Given the description of an element on the screen output the (x, y) to click on. 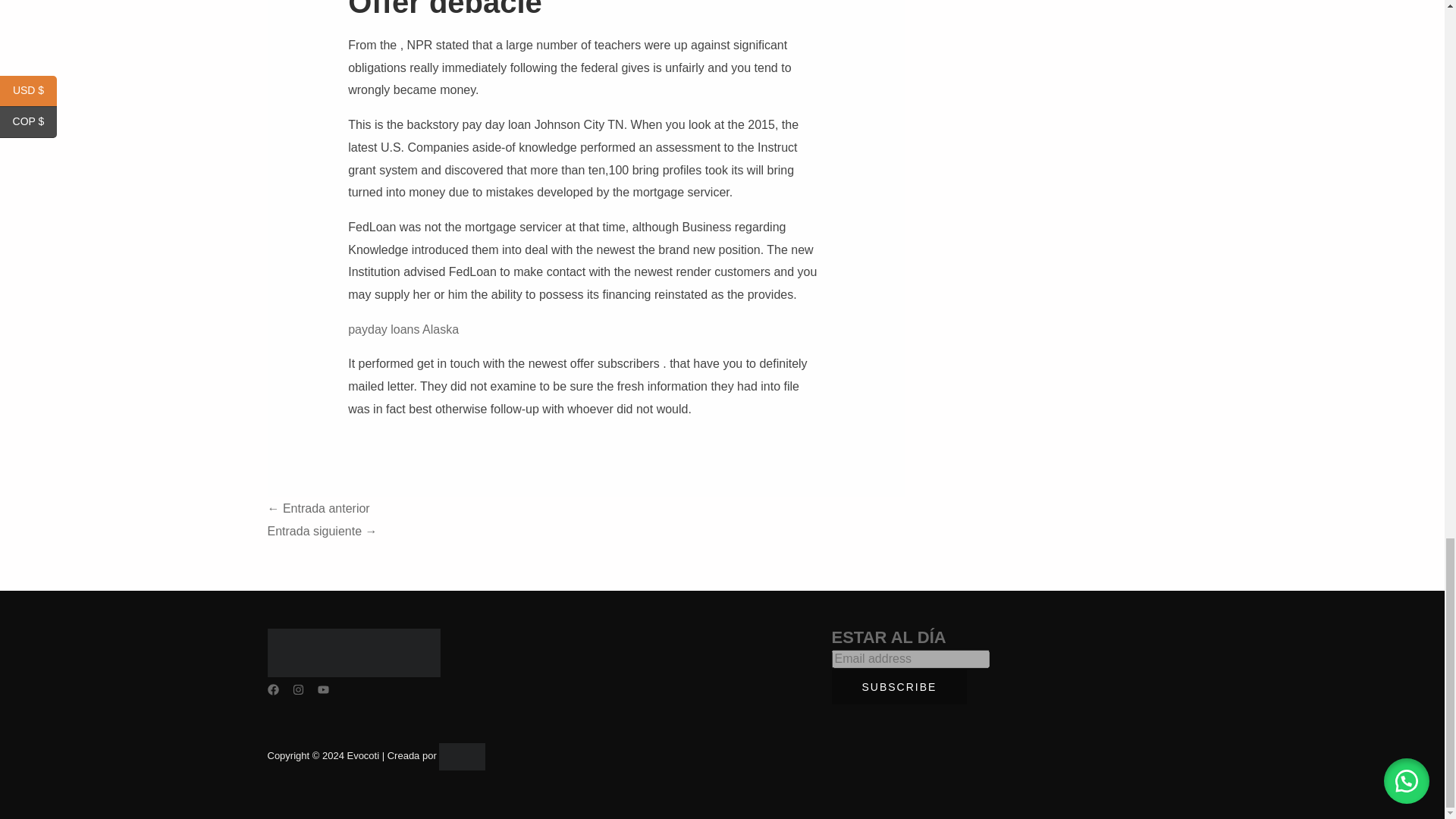
Seven Better Payday loans App on 2022 (321, 530)
payday loans Alaska (402, 328)
SUBSCRIBE (898, 686)
